Given the description of an element on the screen output the (x, y) to click on. 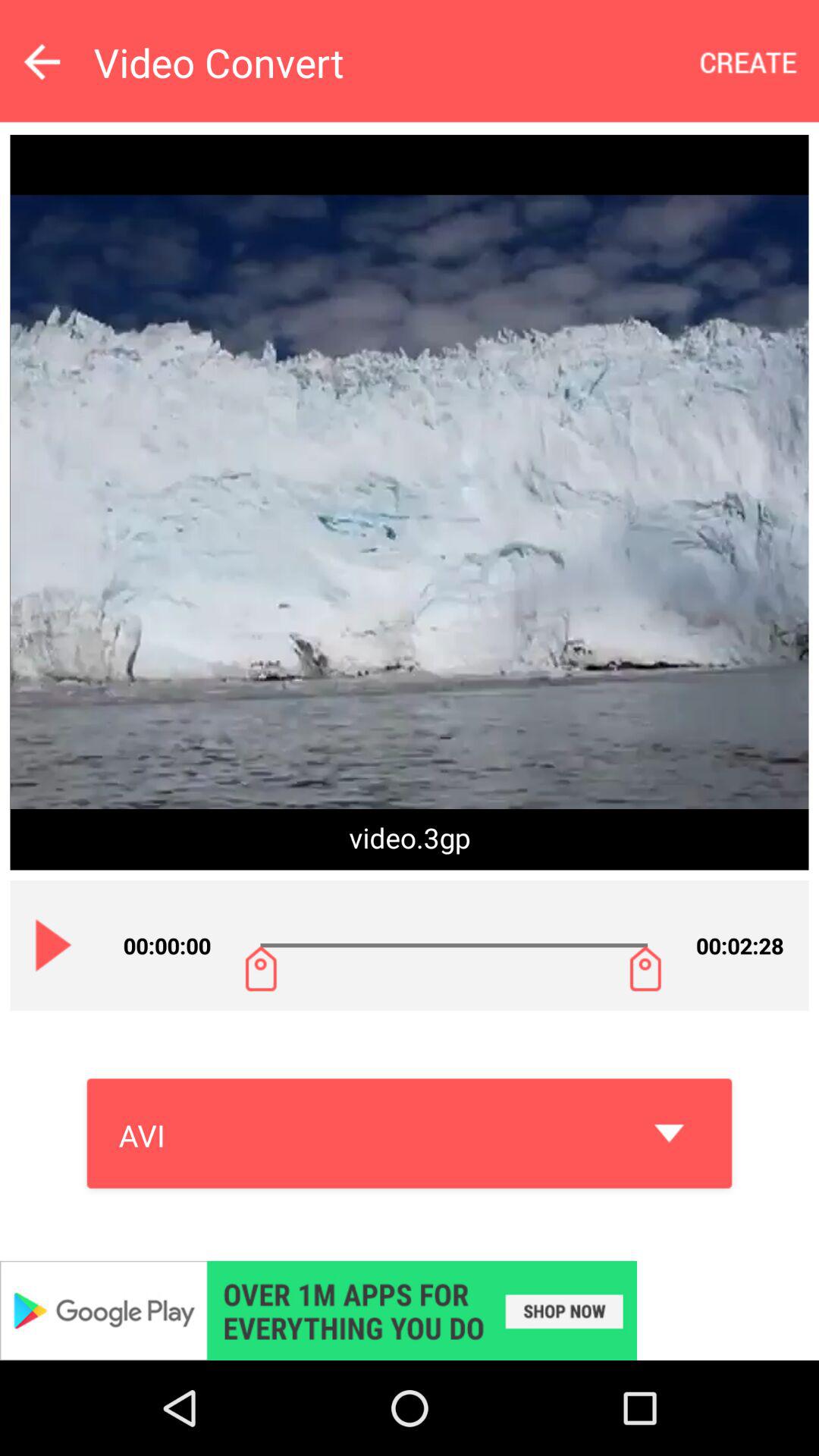
create new format video (749, 62)
